Given the description of an element on the screen output the (x, y) to click on. 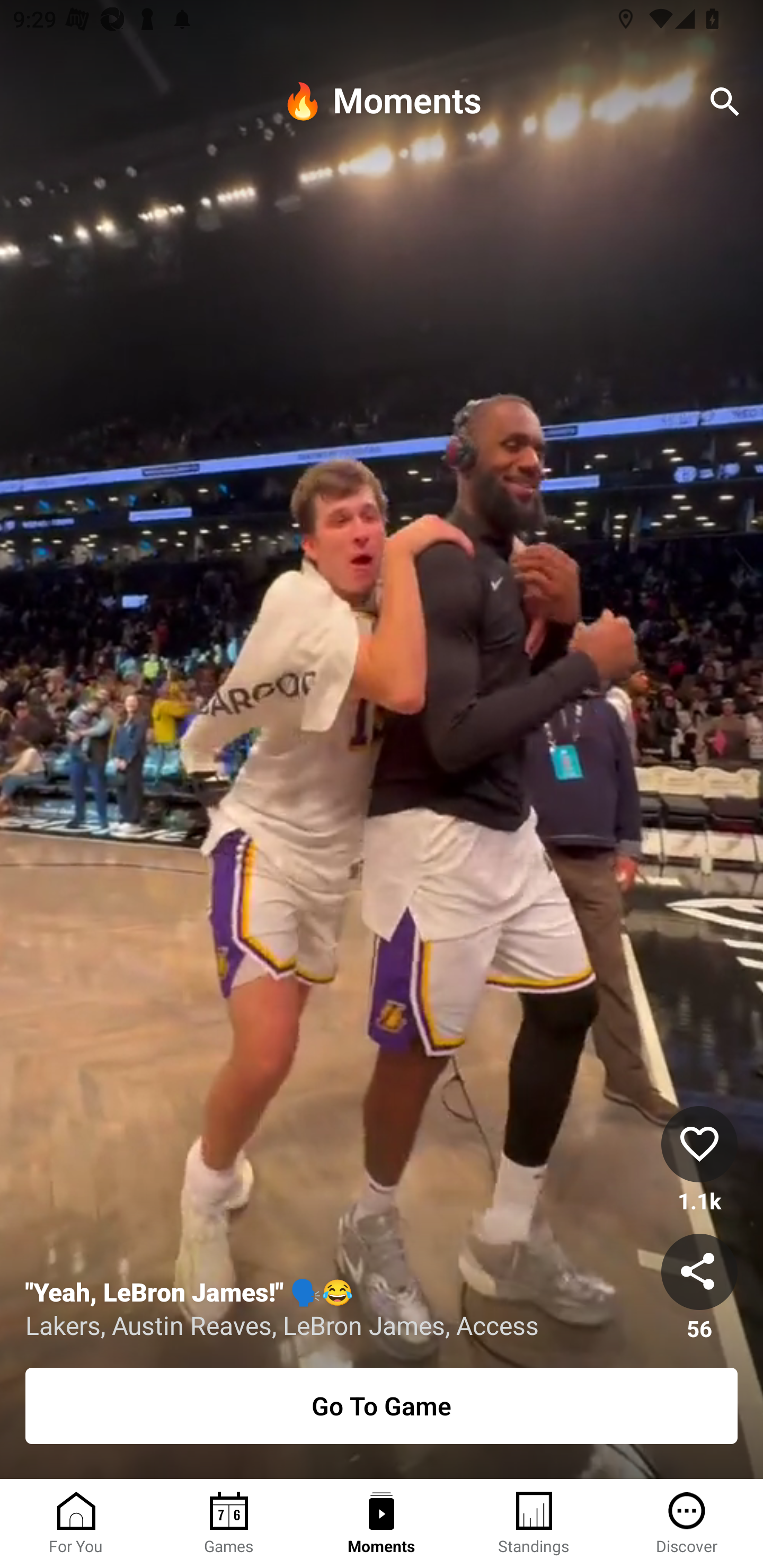
search (724, 101)
like 1.1k 1053 Likes (699, 1160)
share 56 56 Shares (699, 1288)
Go To Game (381, 1405)
For You (76, 1523)
Games (228, 1523)
Standings (533, 1523)
Discover (686, 1523)
